Given the description of an element on the screen output the (x, y) to click on. 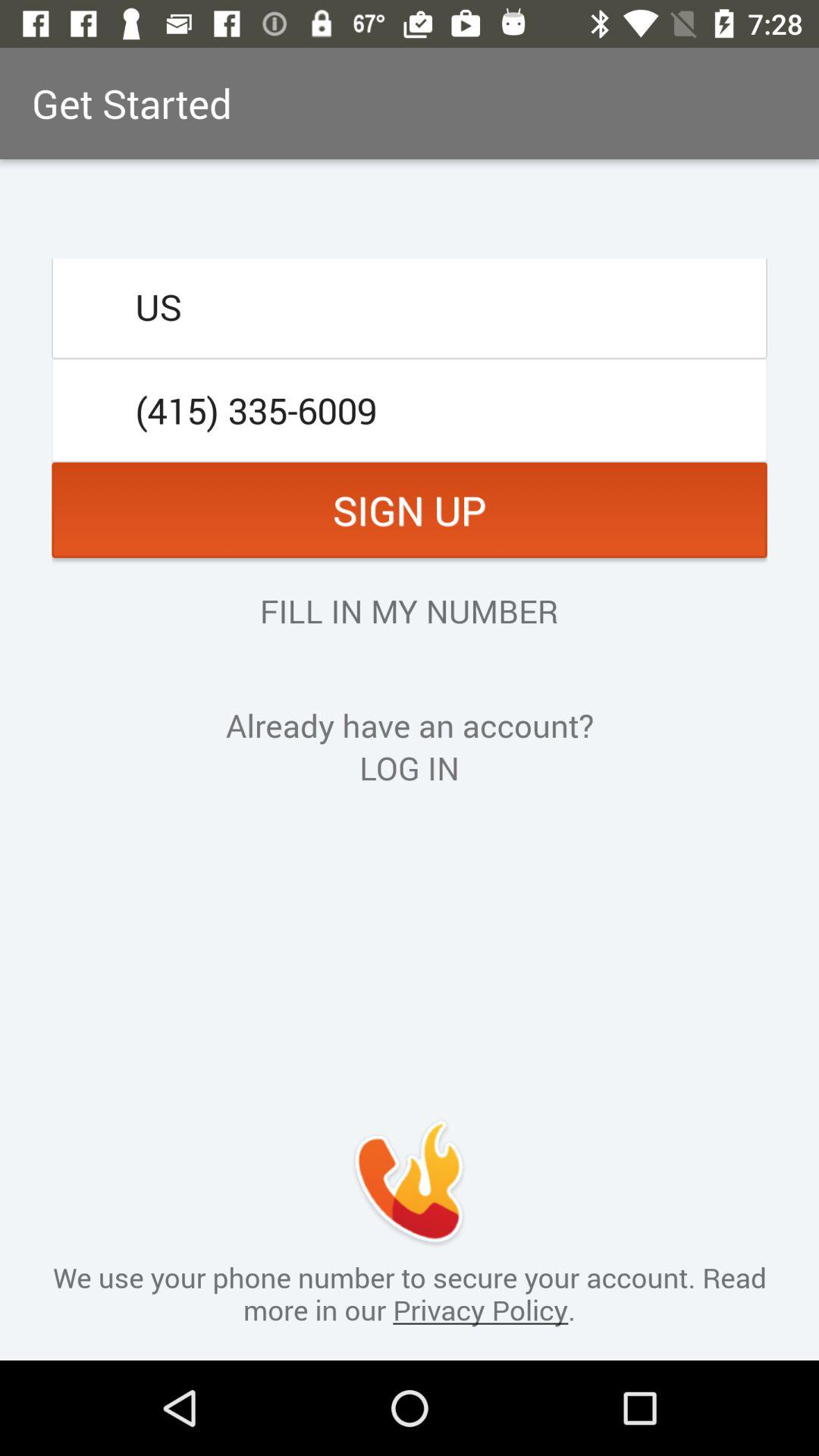
turn off the icon below the us item (409, 410)
